Given the description of an element on the screen output the (x, y) to click on. 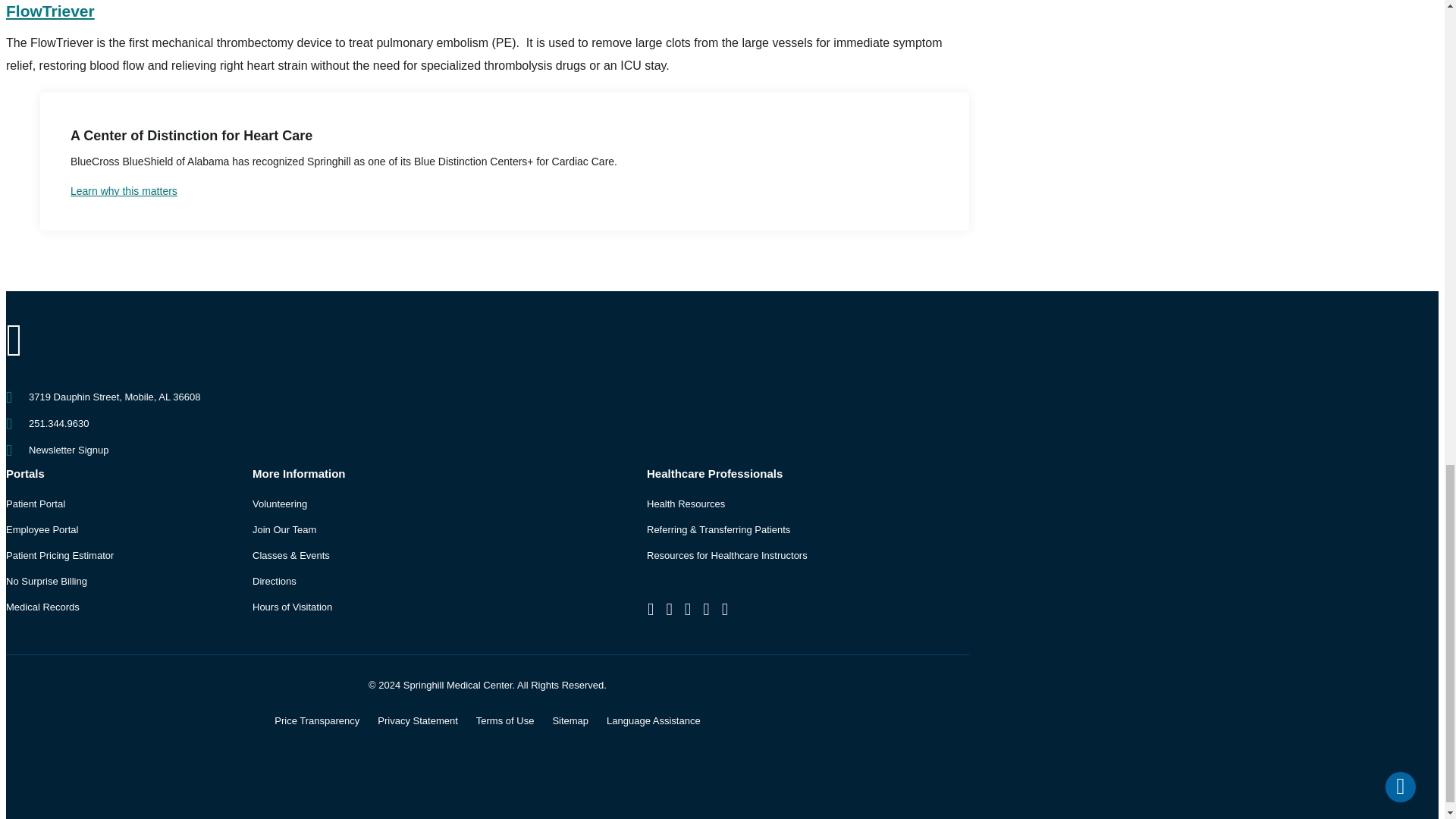
Language Assistance (653, 720)
Terms of Use (505, 720)
FlowTriever (49, 10)
Learn why this matters (504, 190)
FlowTriever (49, 10)
251.344.9630 (58, 423)
